Given the description of an element on the screen output the (x, y) to click on. 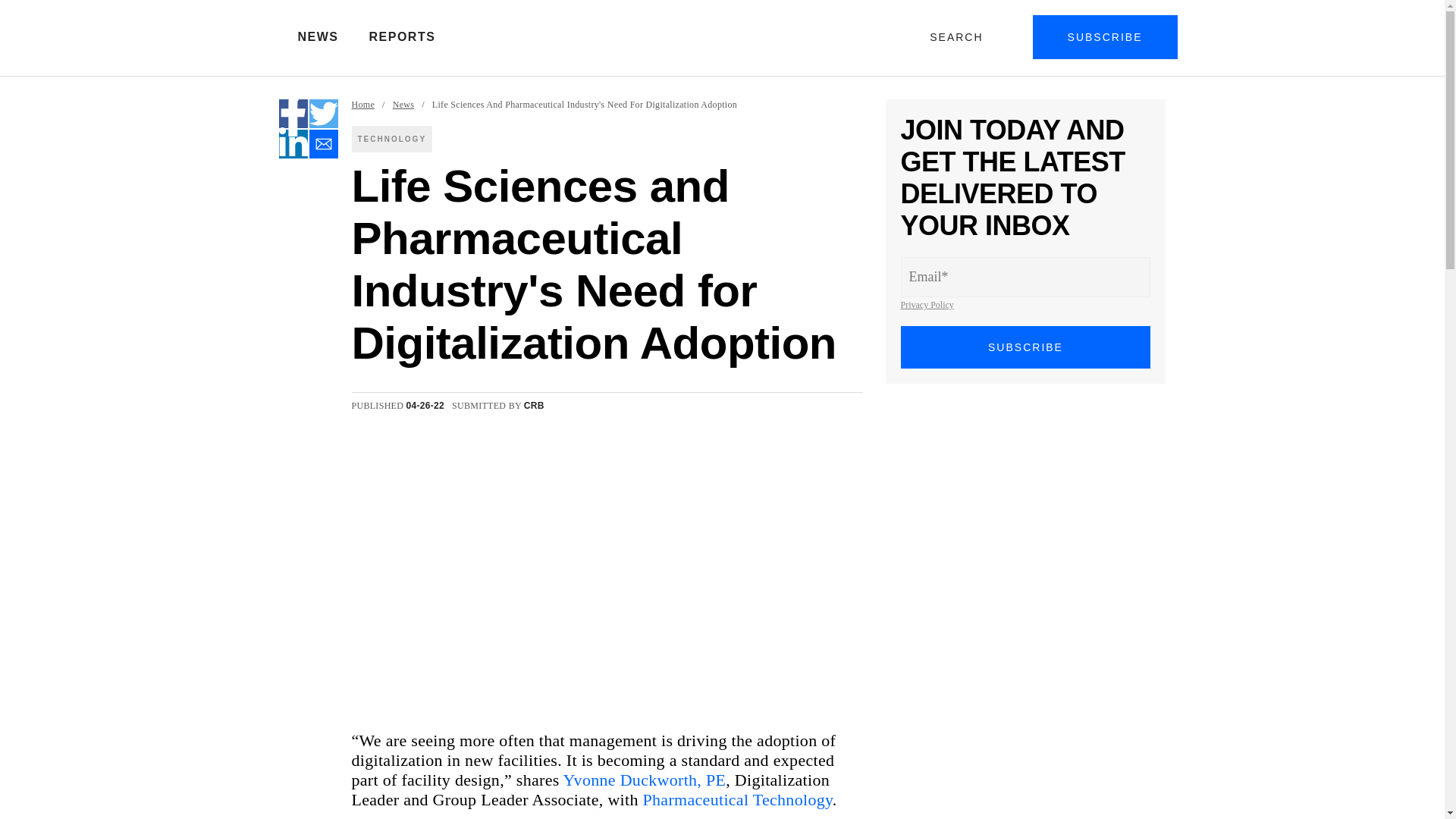
SUBSCRIBE (1026, 346)
Pharmaceutical Technology (737, 799)
Yvonne Duckworth, PE (644, 779)
SUBSCRIBE (1104, 36)
News (403, 104)
Facebook (293, 113)
TECHNOLOGY (392, 139)
Home (363, 104)
Privacy Policy (927, 304)
Twitter (322, 113)
